Given the description of an element on the screen output the (x, y) to click on. 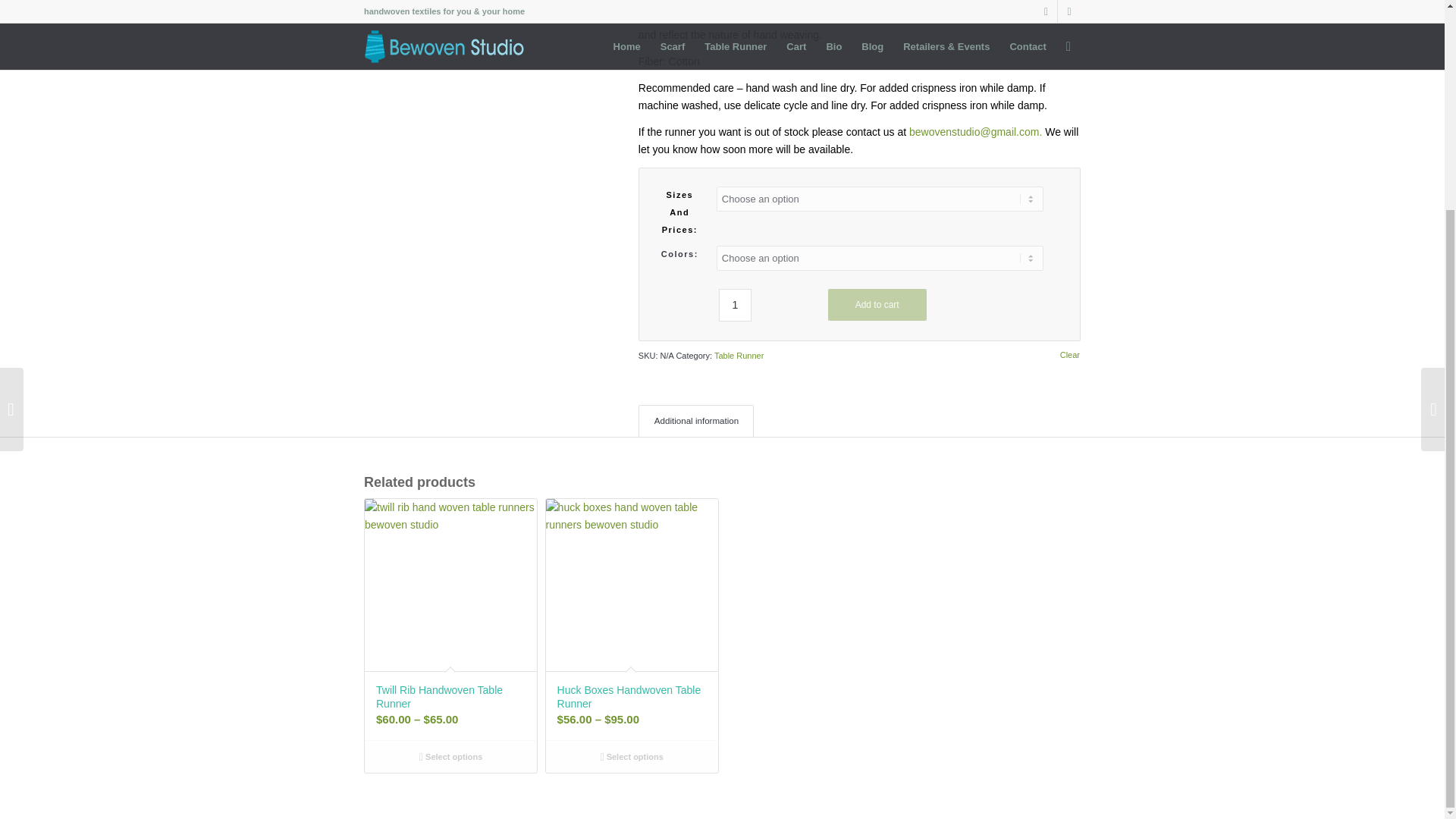
Additional information (696, 420)
Clear (1069, 355)
1 (735, 305)
Table Runner (738, 355)
Select options (450, 756)
Select options (631, 756)
Add to cart (877, 305)
